Given the description of an element on the screen output the (x, y) to click on. 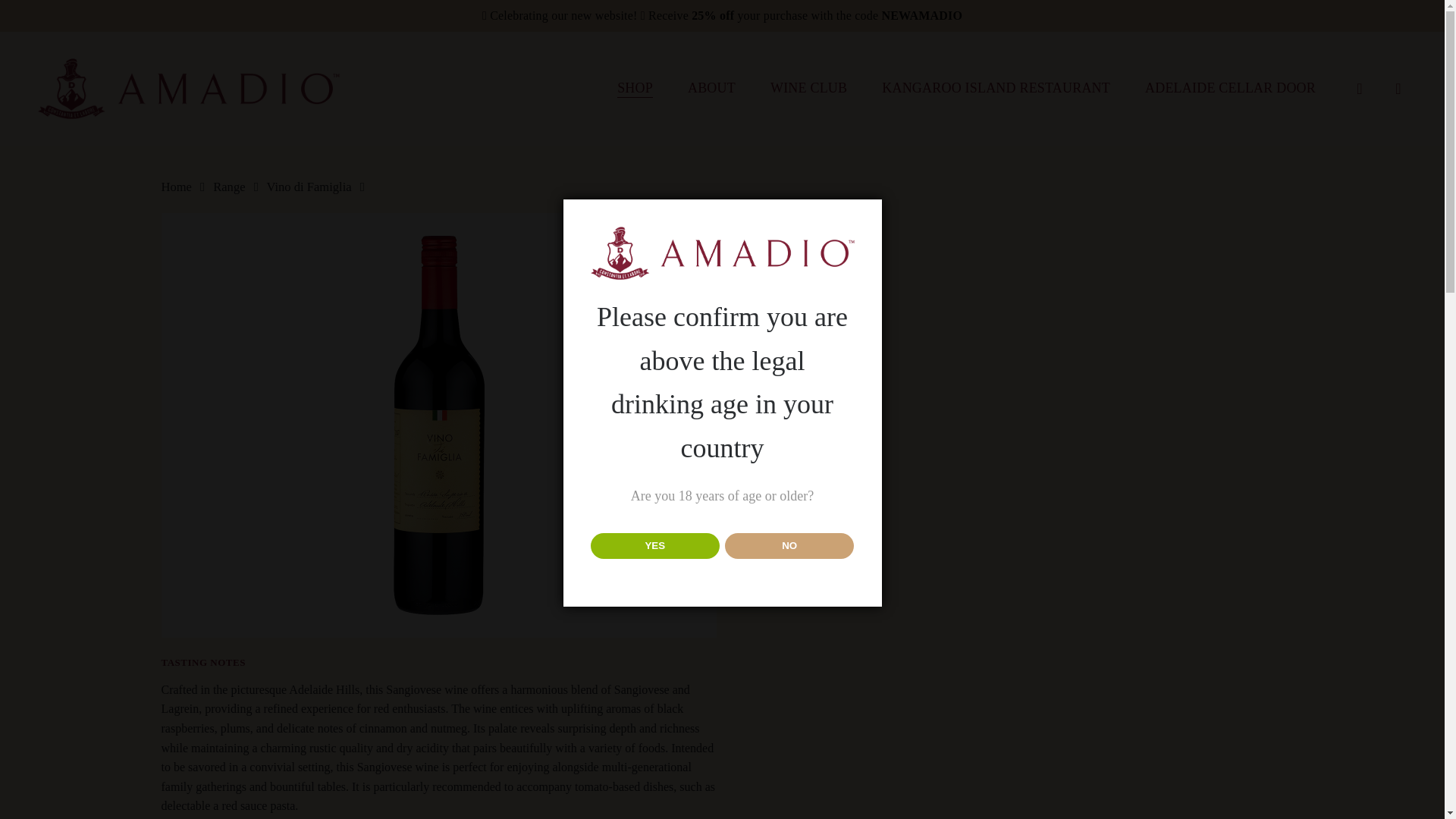
ABOUT (711, 87)
ADELAIDE CELLAR DOOR (1230, 87)
KANGAROO ISLAND RESTAURANT (995, 87)
SHOP (634, 87)
Range (228, 186)
search (1359, 88)
Vino di Famiglia (309, 186)
WINE CLUB (808, 87)
Home (175, 186)
